Given the description of an element on the screen output the (x, y) to click on. 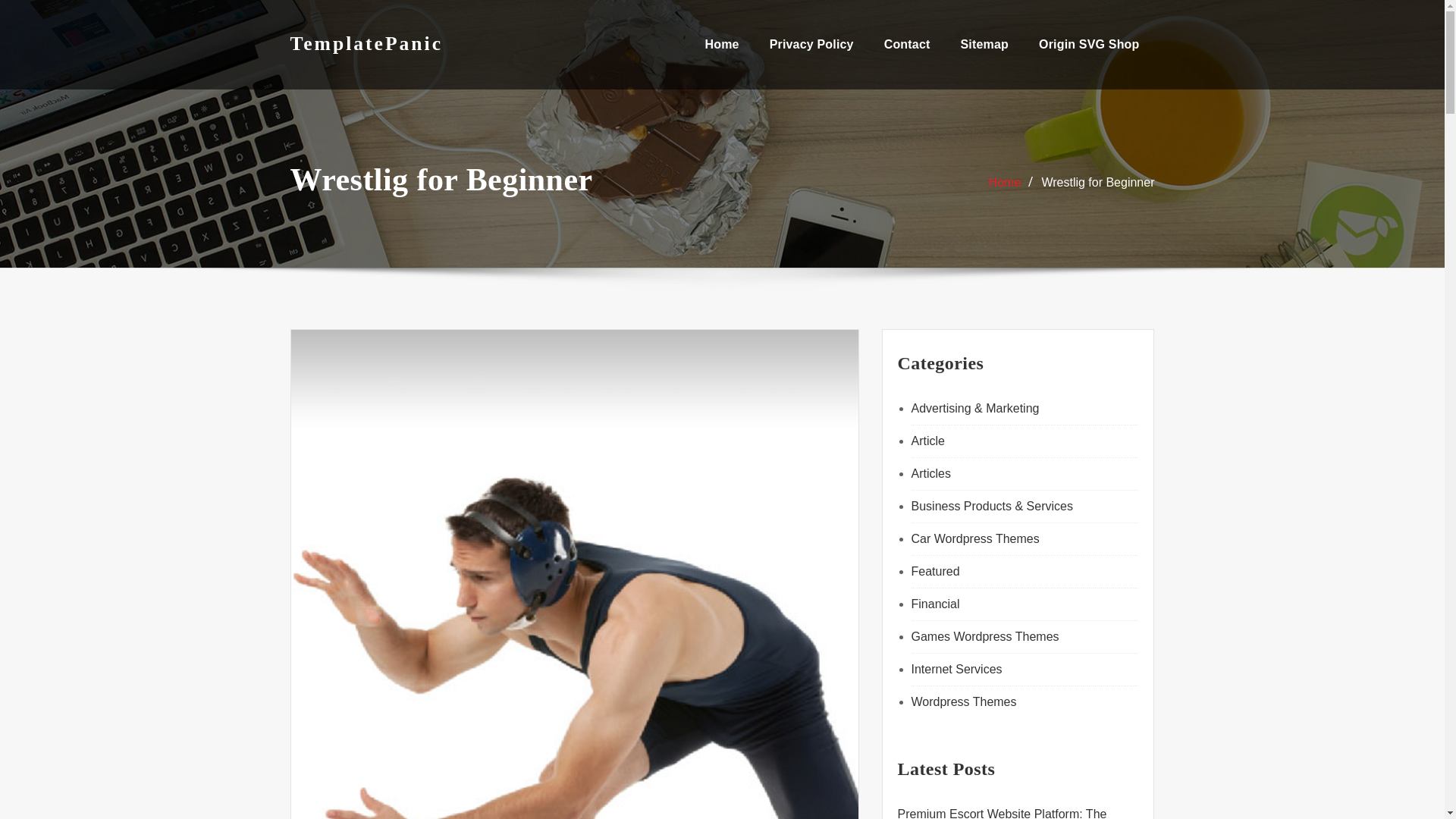
Articles (930, 472)
Article (927, 440)
Games Wordpress Themes (985, 635)
Home (1005, 182)
Privacy Policy (811, 44)
Financial (935, 603)
Wrestlig for Beginner (1097, 182)
Featured (935, 571)
Car Wordpress Themes (975, 538)
Wordpress Themes (963, 701)
